Given the description of an element on the screen output the (x, y) to click on. 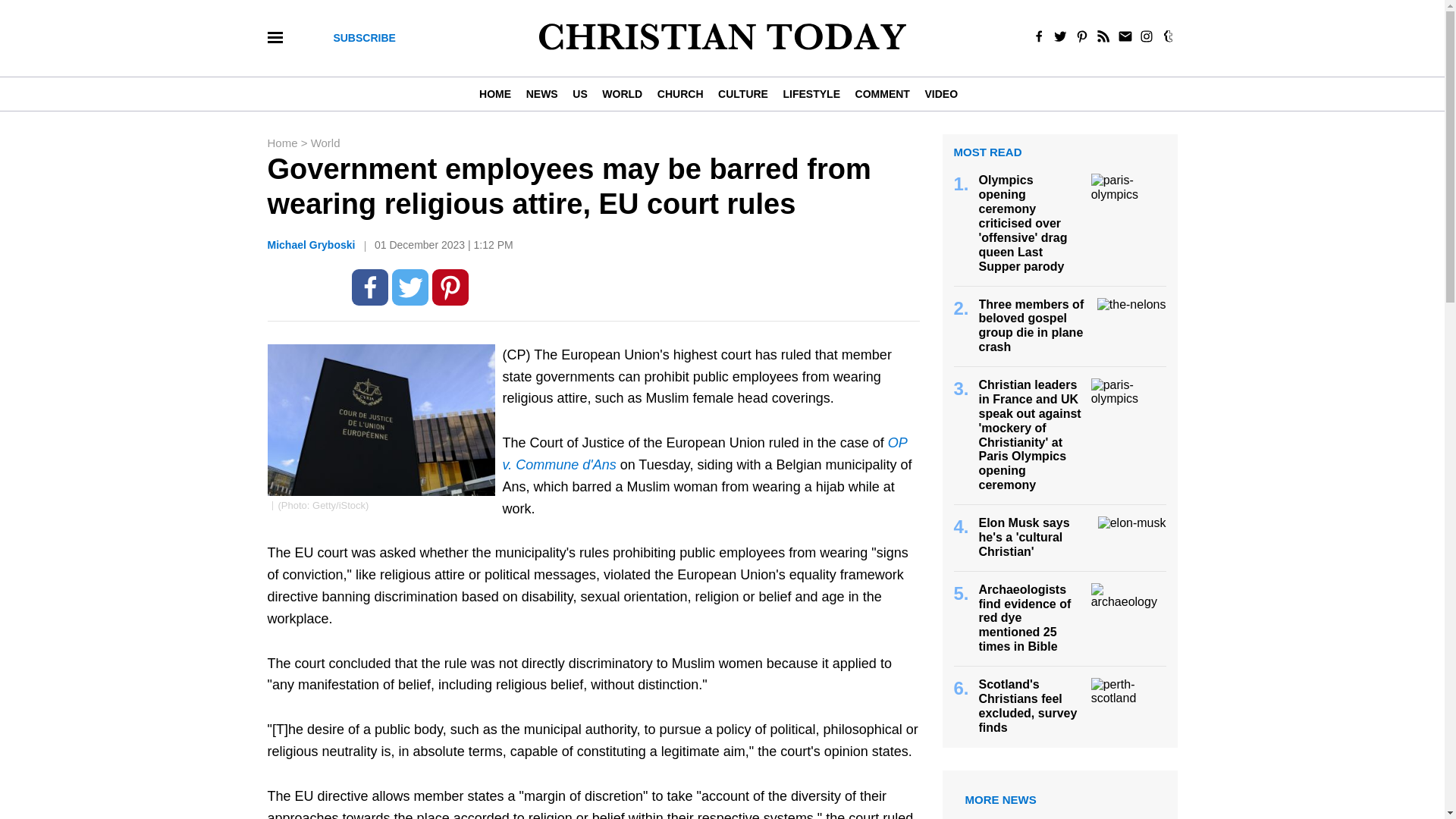
NEWS (542, 93)
COMMENT (882, 93)
HOME (498, 93)
CHURCH (679, 93)
SUBSCRIBE (363, 37)
WORLD (622, 93)
VIDEO (941, 93)
CULTURE (742, 93)
Home (282, 142)
LIFESTYLE (811, 93)
